Given the description of an element on the screen output the (x, y) to click on. 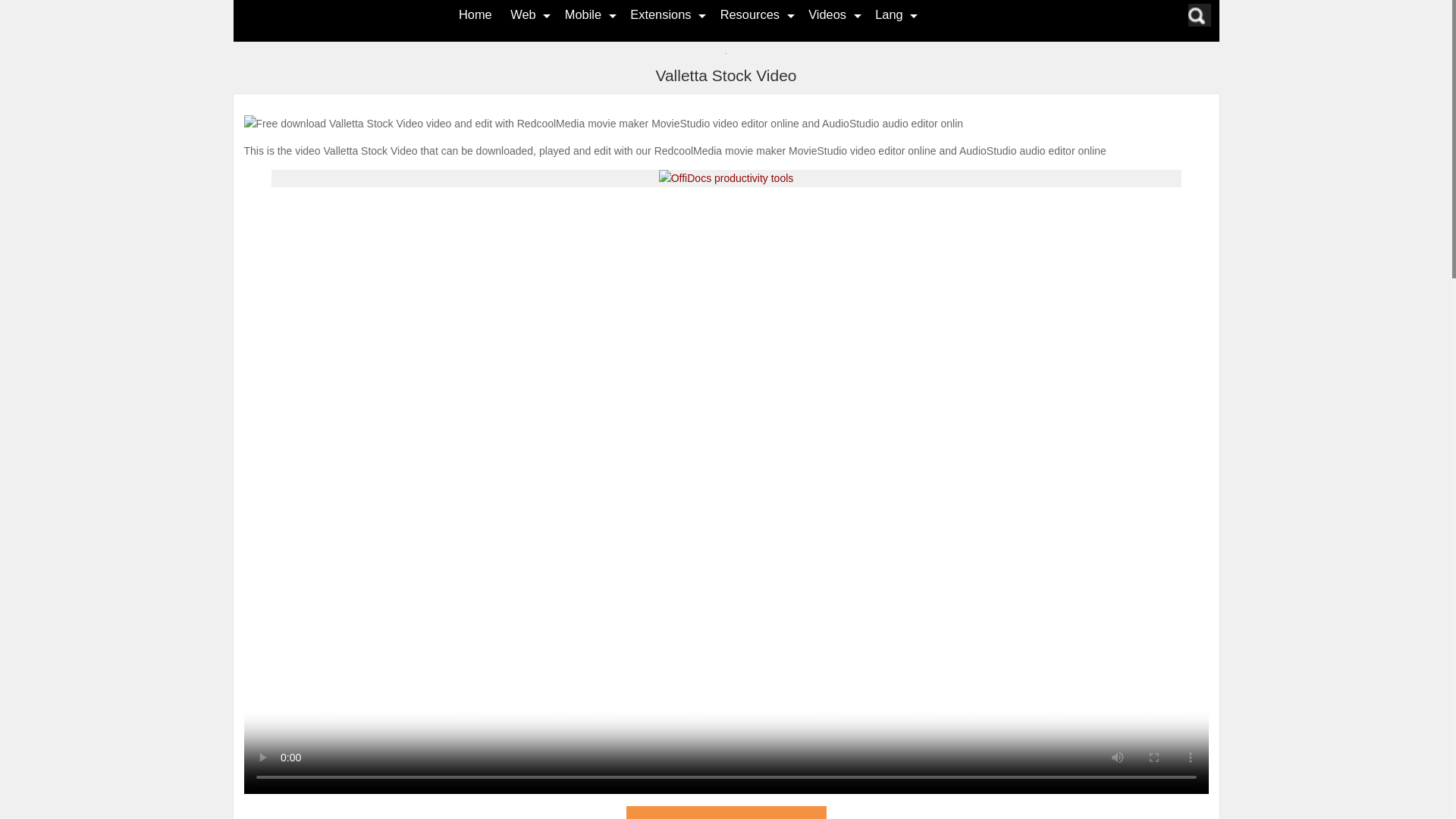
Extensions (660, 14)
Mobile (582, 14)
Web (523, 14)
Videos (826, 14)
Lang (888, 14)
Web (523, 14)
Resources (749, 14)
Extensions (660, 14)
Home (475, 14)
Mobile (582, 14)
